Given the description of an element on the screen output the (x, y) to click on. 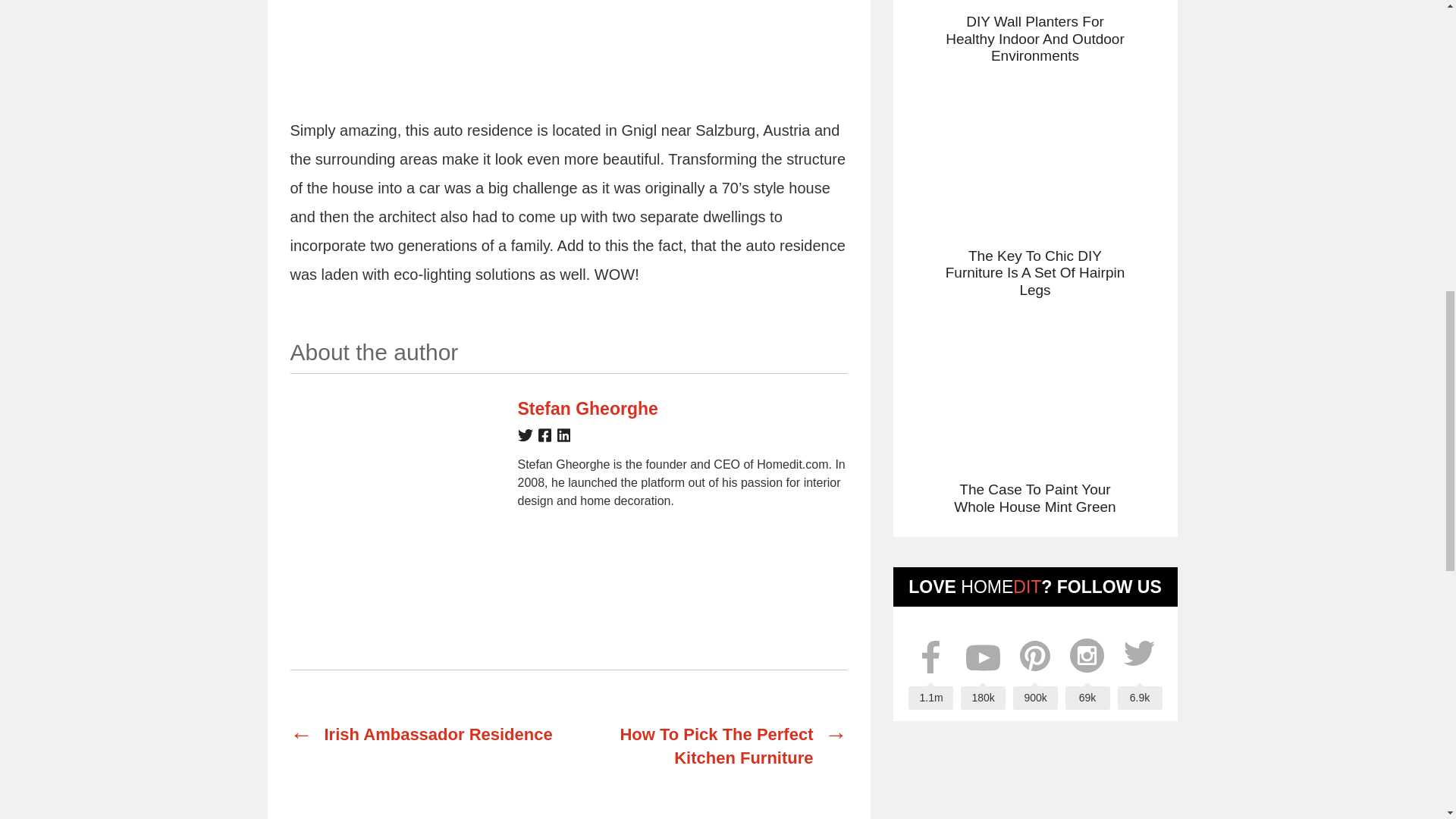
The Case To Paint Your Whole House Mint Green (1035, 409)
The Case To Paint Your Whole House Mint Green (1035, 409)
Stefan Gheorghe (587, 408)
Posts by Stefan Gheorghe (587, 408)
german-architecture-auto-house-1 (567, 46)
